Given the description of an element on the screen output the (x, y) to click on. 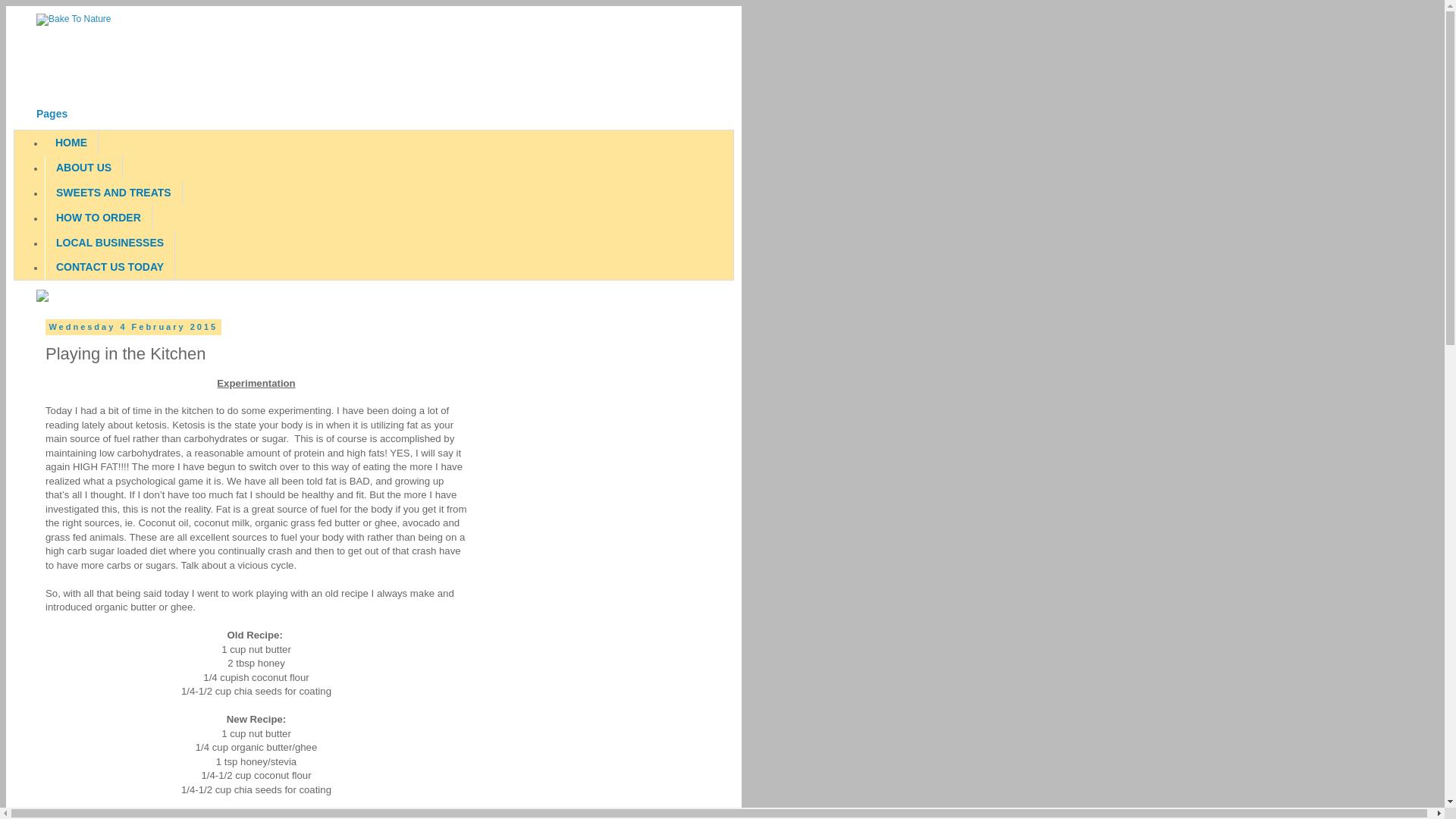
HOME Element type: text (71, 142)
CONTACT US TODAY Element type: text (109, 266)
ABOUT US Element type: text (83, 167)
LOCAL BUSINESSES Element type: text (109, 241)
SWEETS AND TREATS Element type: text (113, 192)
HOW TO ORDER Element type: text (98, 216)
